Given the description of an element on the screen output the (x, y) to click on. 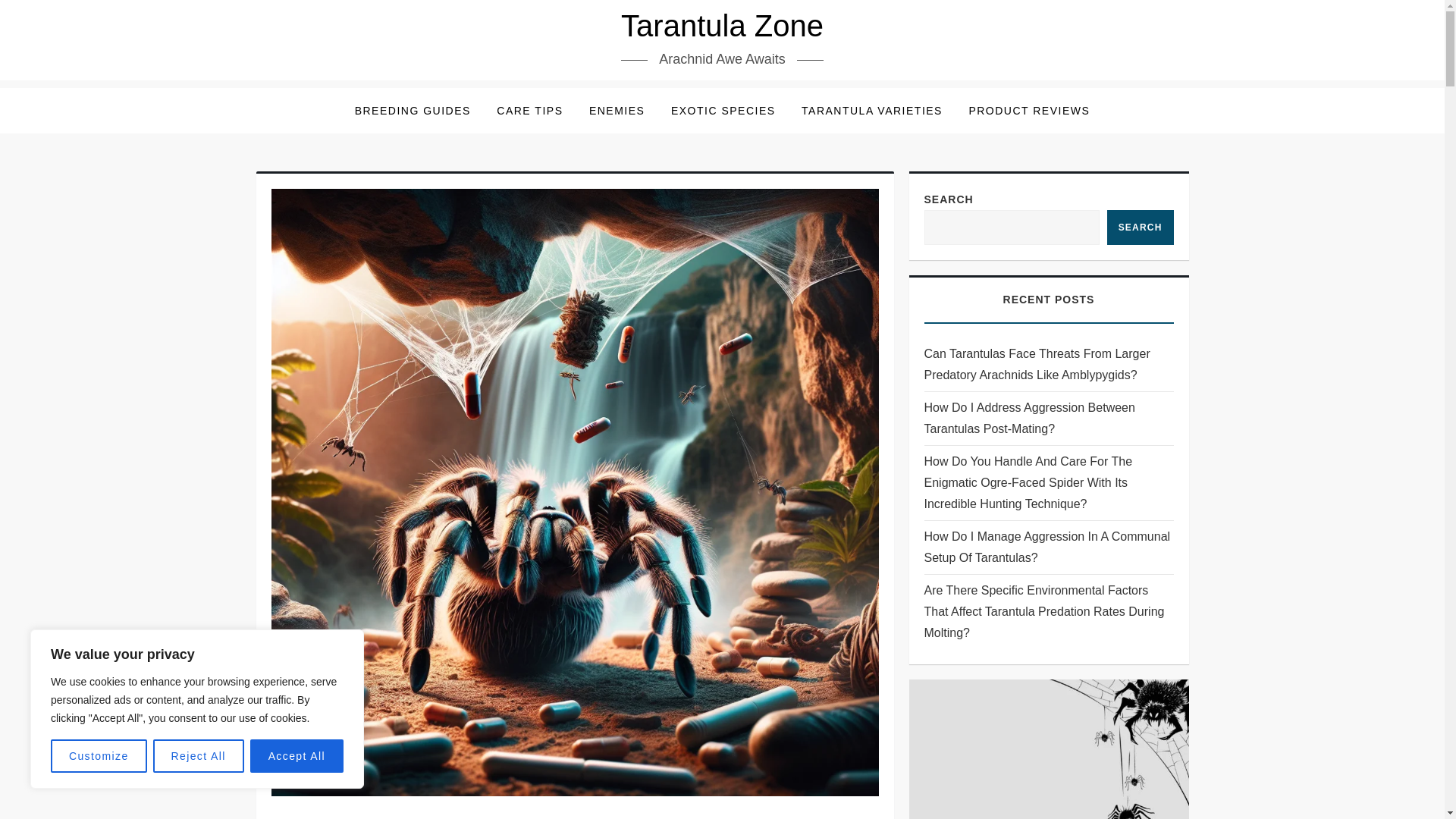
ENEMIES (617, 110)
Customize (98, 756)
BREEDING GUIDES (412, 110)
Tarantula Zone (722, 25)
PRODUCT REVIEWS (1028, 110)
Reject All (198, 756)
TARANTULA VARIETIES (871, 110)
EXOTIC SPECIES (723, 110)
Accept All (296, 756)
CARE TIPS (528, 110)
